Given the description of an element on the screen output the (x, y) to click on. 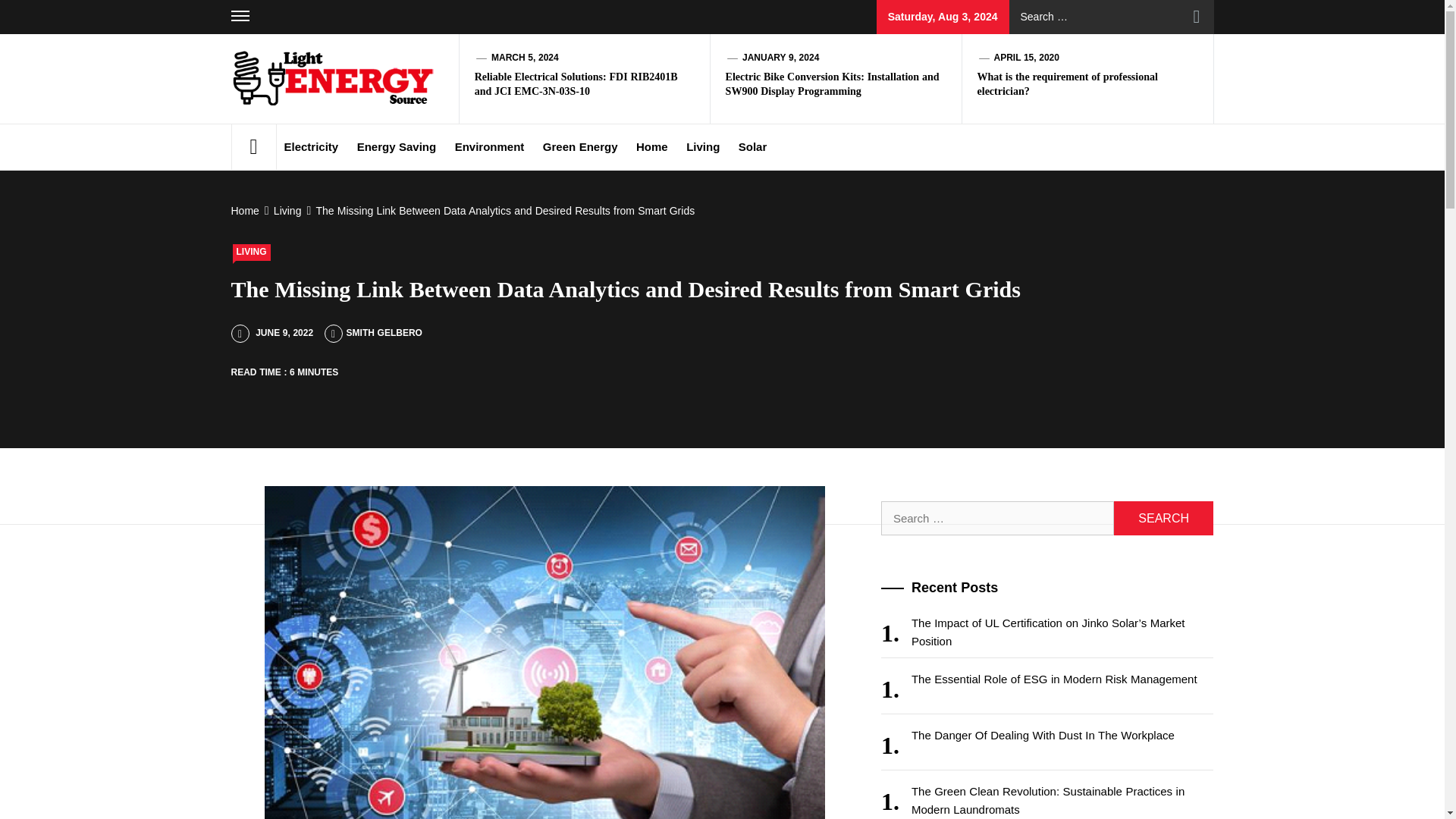
LIVING (250, 252)
Home (246, 210)
Living (285, 210)
APRIL 15, 2020 (1025, 57)
Search (1163, 518)
SMITH GELBERO (373, 332)
JUNE 9, 2022 (271, 332)
Search (1196, 17)
Energy Saving (396, 146)
